Given the description of an element on the screen output the (x, y) to click on. 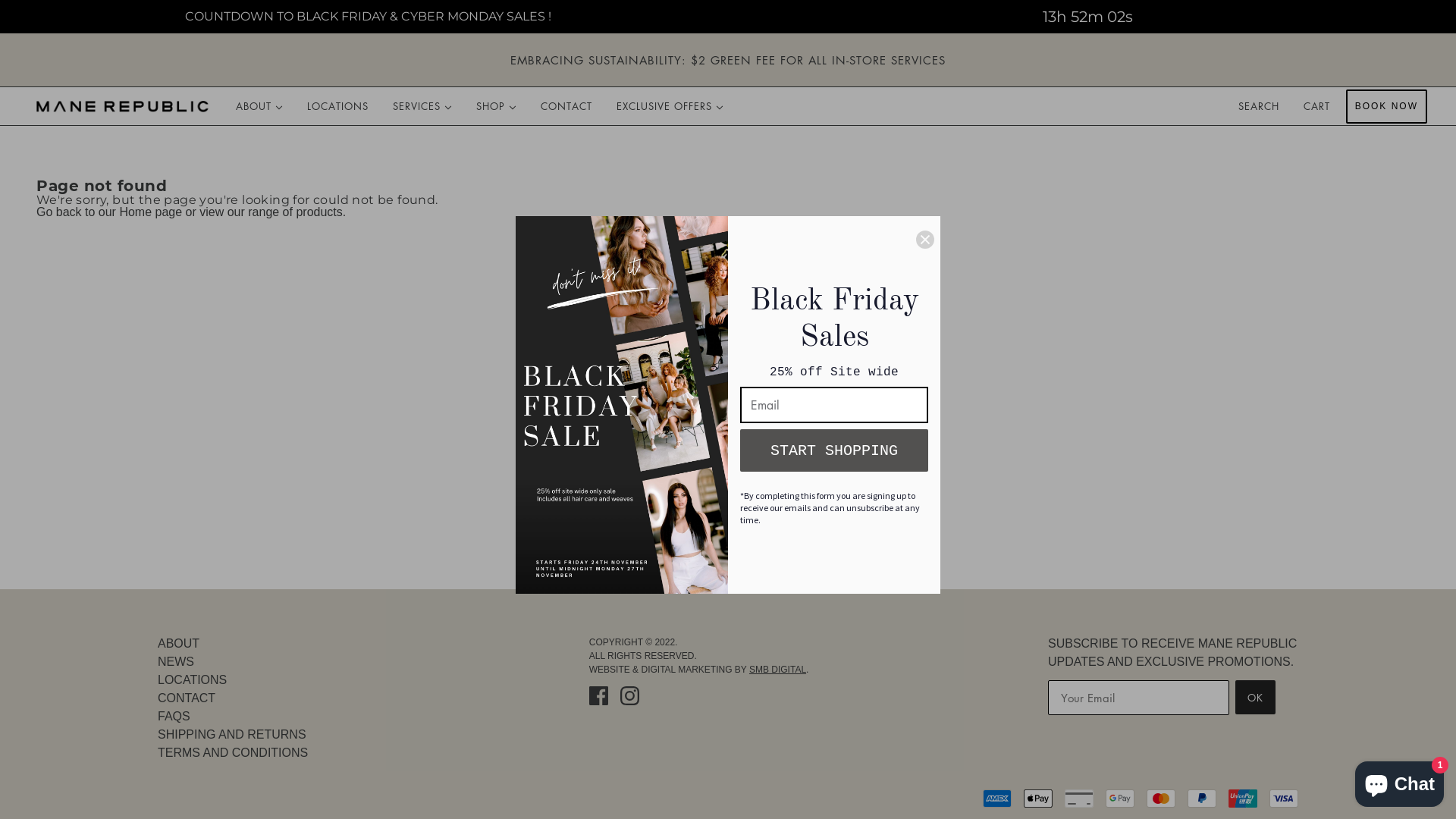
LOCATIONS Element type: text (191, 679)
EXCLUSIVE OFFERS Element type: text (669, 106)
FAQS Element type: text (173, 715)
Shopify online store chat Element type: hover (1399, 780)
LOCATIONS Element type: text (337, 106)
ABOUT Element type: text (258, 106)
Close Element type: hover (925, 239)
CONTACT Element type: text (186, 697)
Home page Element type: text (150, 211)
SMB DIGITAL Element type: text (777, 669)
START SHOPPING Element type: text (834, 450)
ABOUT Element type: text (178, 643)
NEWS Element type: text (175, 661)
CART  Element type: text (1318, 106)
SHIPPING AND RETURNS Element type: text (231, 734)
CONTACT Element type: text (566, 106)
SEARCH Element type: text (1258, 106)
products Element type: text (318, 211)
SHOP Element type: text (496, 106)
SERVICES Element type: text (422, 106)
OK Element type: text (1255, 697)
www.manerepublic.com.au Element type: hover (122, 106)
TERMS AND CONDITIONS Element type: text (232, 752)
BOOK NOW Element type: text (1386, 106)
